Given the description of an element on the screen output the (x, y) to click on. 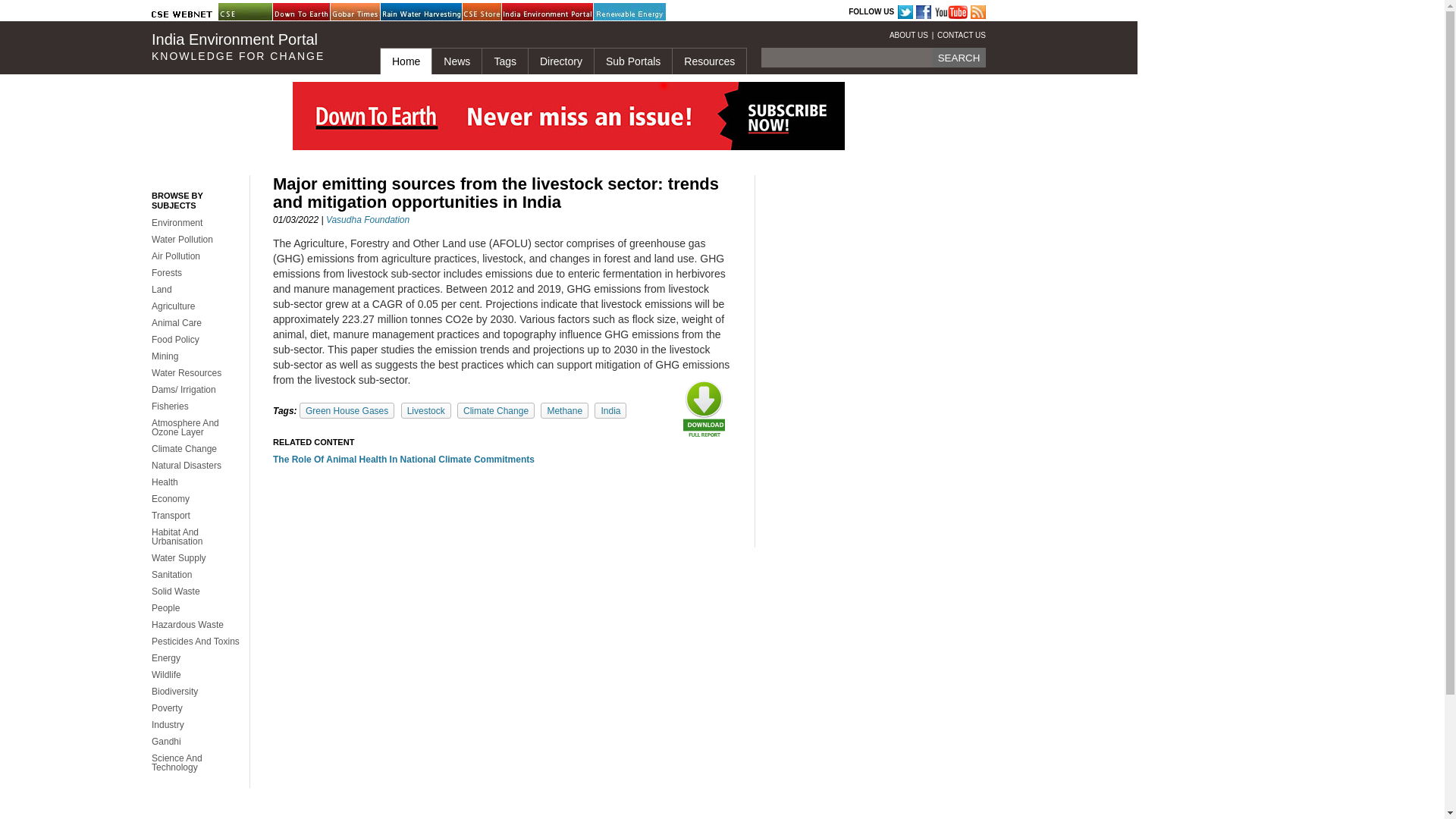
Directory (560, 60)
India Environment Portal KNOWLEDGE FOR CHANGE (253, 46)
Resources (708, 60)
Sub Portals (632, 60)
Renewable Energy (631, 11)
Home (405, 60)
Rain Water Harvesting (418, 11)
India Environment Portal (540, 11)
CSE (256, 11)
CSE Store (500, 11)
Tags (504, 60)
Down to Earth (311, 11)
Gobar Times (368, 11)
News (455, 60)
